Given the description of an element on the screen output the (x, y) to click on. 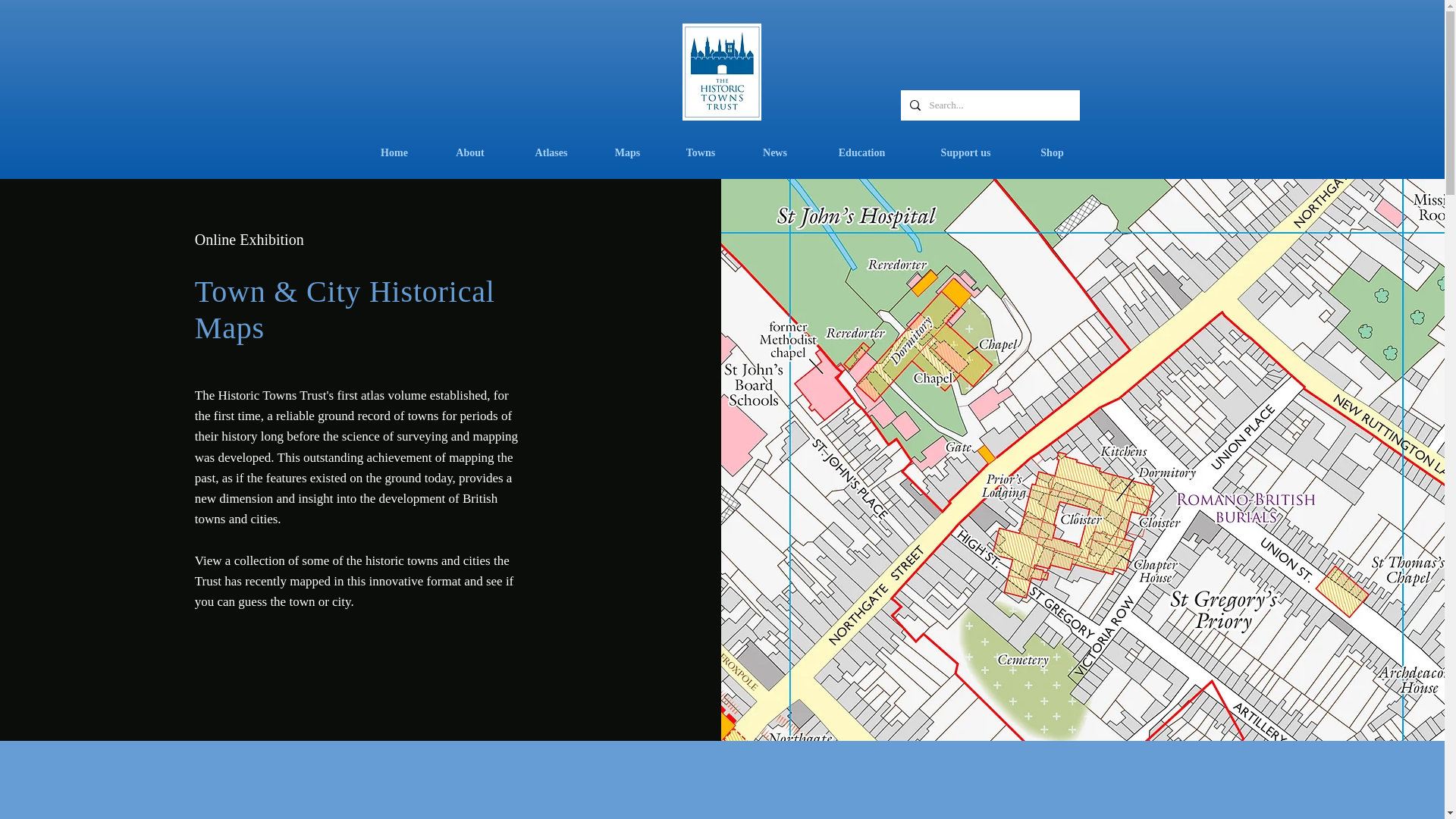
About (469, 152)
Atlases (551, 152)
Maps (626, 152)
Home (394, 152)
